Given the description of an element on the screen output the (x, y) to click on. 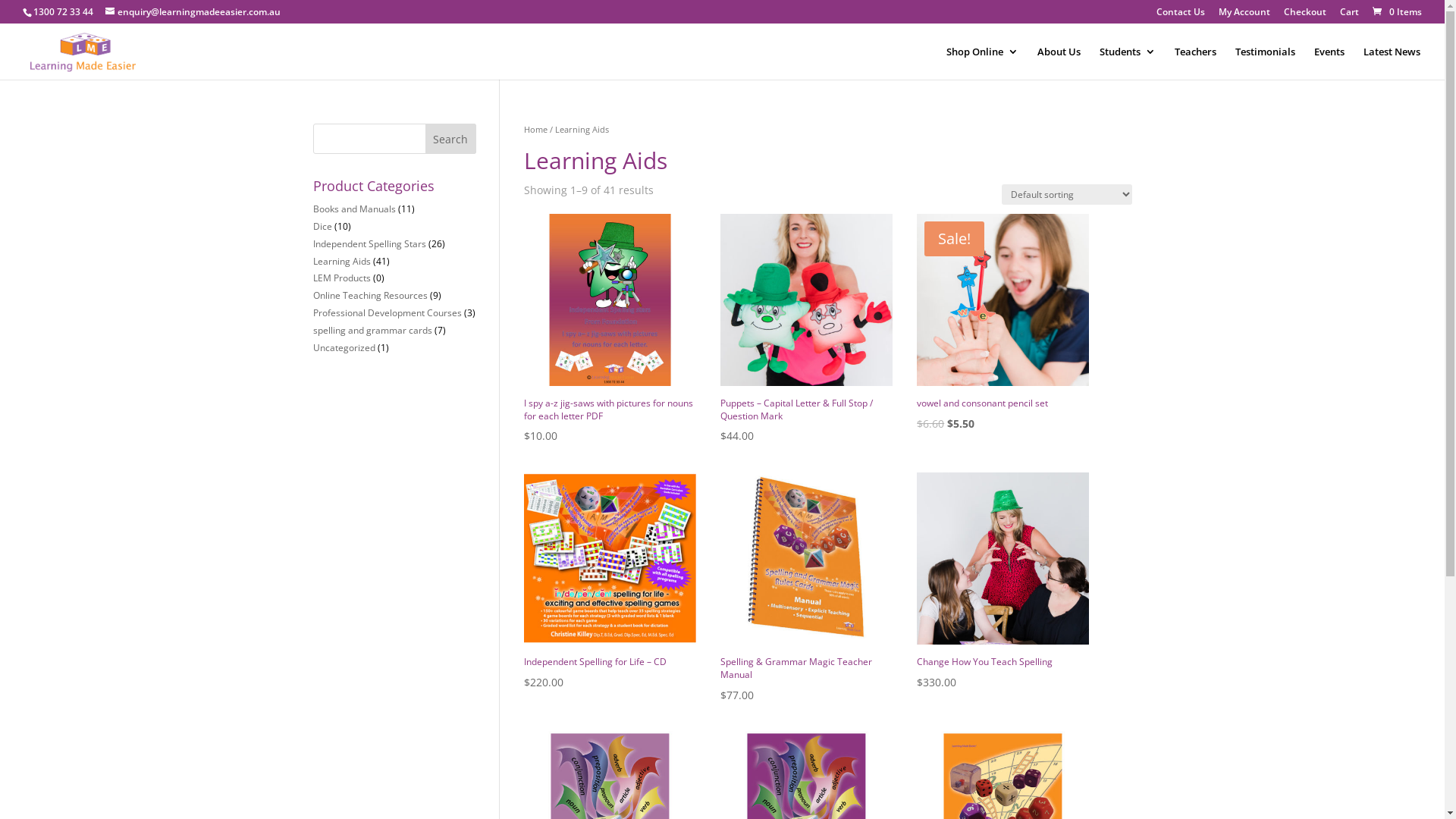
Uncategorized Element type: text (343, 347)
Shop Online Element type: text (982, 62)
About Us Element type: text (1058, 62)
Professional Development Courses Element type: text (386, 312)
enquiry@learningmadeeasier.com.au Element type: text (192, 11)
LEM Products Element type: text (341, 277)
Spelling & Grammar Magic Teacher Manual
$77.00 Element type: text (806, 587)
Online Teaching Resources Element type: text (369, 294)
Cart Element type: text (1348, 15)
Testimonials Element type: text (1265, 62)
0 Items Element type: text (1395, 11)
Checkout Element type: text (1304, 15)
Contact Us Element type: text (1180, 15)
Independent Spelling Stars Element type: text (368, 243)
Students Element type: text (1127, 62)
Learning Aids Element type: text (341, 260)
Dice Element type: text (321, 225)
Latest News Element type: text (1391, 62)
Search Element type: text (450, 138)
Sale!
vowel and consonant pencil set
$6.60 $5.50 Element type: text (1002, 323)
Books and Manuals Element type: text (353, 208)
Change How You Teach Spelling
$330.00 Element type: text (1002, 581)
Events Element type: text (1329, 62)
spelling and grammar cards Element type: text (371, 329)
Home Element type: text (535, 128)
My Account Element type: text (1244, 15)
Teachers Element type: text (1195, 62)
